Given the description of an element on the screen output the (x, y) to click on. 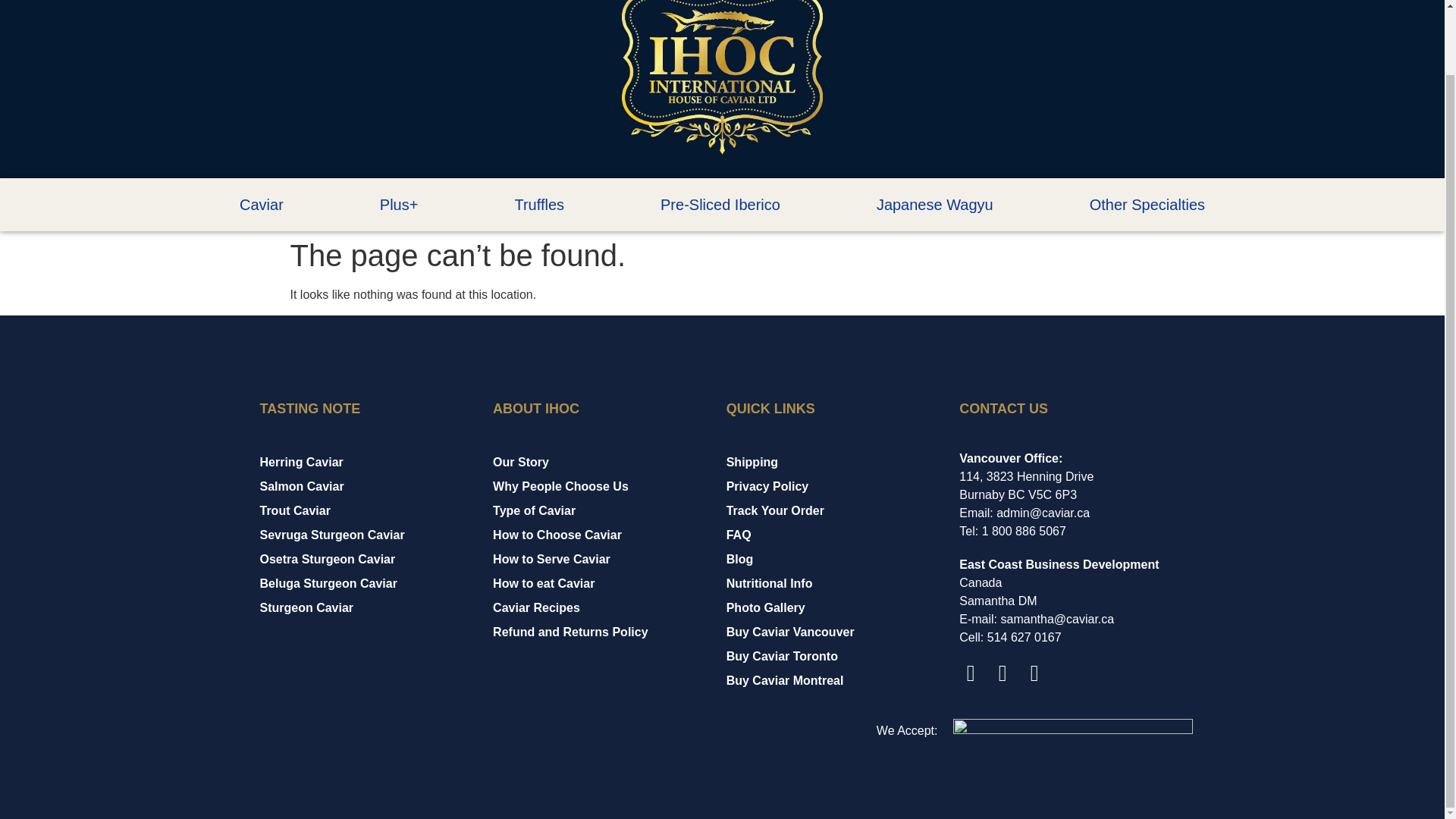
Japanese Wagyu (934, 204)
Pre-Sliced Iberico (720, 204)
Caviar (260, 204)
Truffles (538, 204)
Other Specialties (1146, 204)
